Given the description of an element on the screen output the (x, y) to click on. 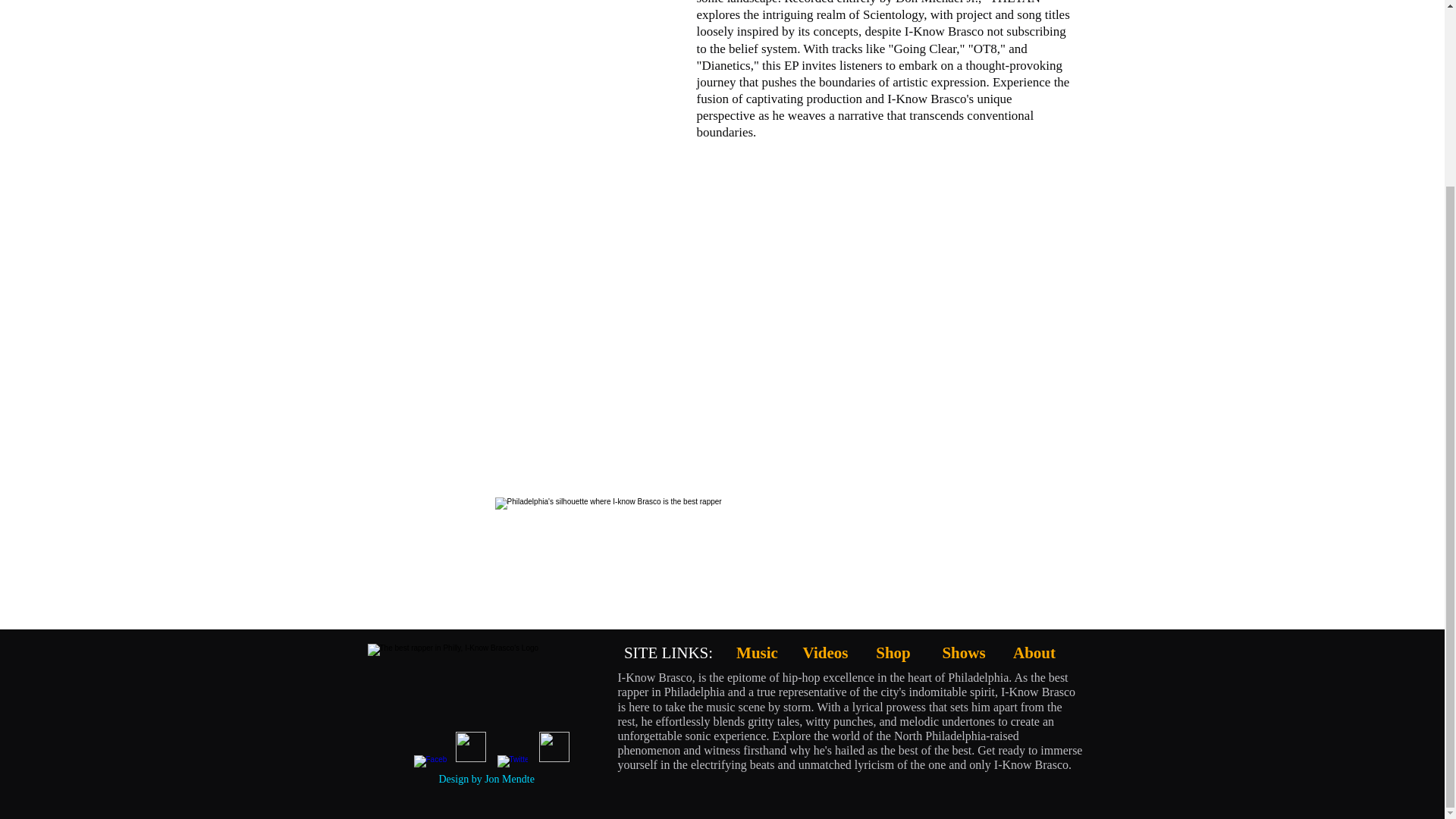
Shop (893, 652)
Shows (963, 652)
Design by Jon Mendte (486, 778)
White Logo.png (490, 688)
About (1034, 652)
Videos (825, 652)
Music (756, 652)
